Given the description of an element on the screen output the (x, y) to click on. 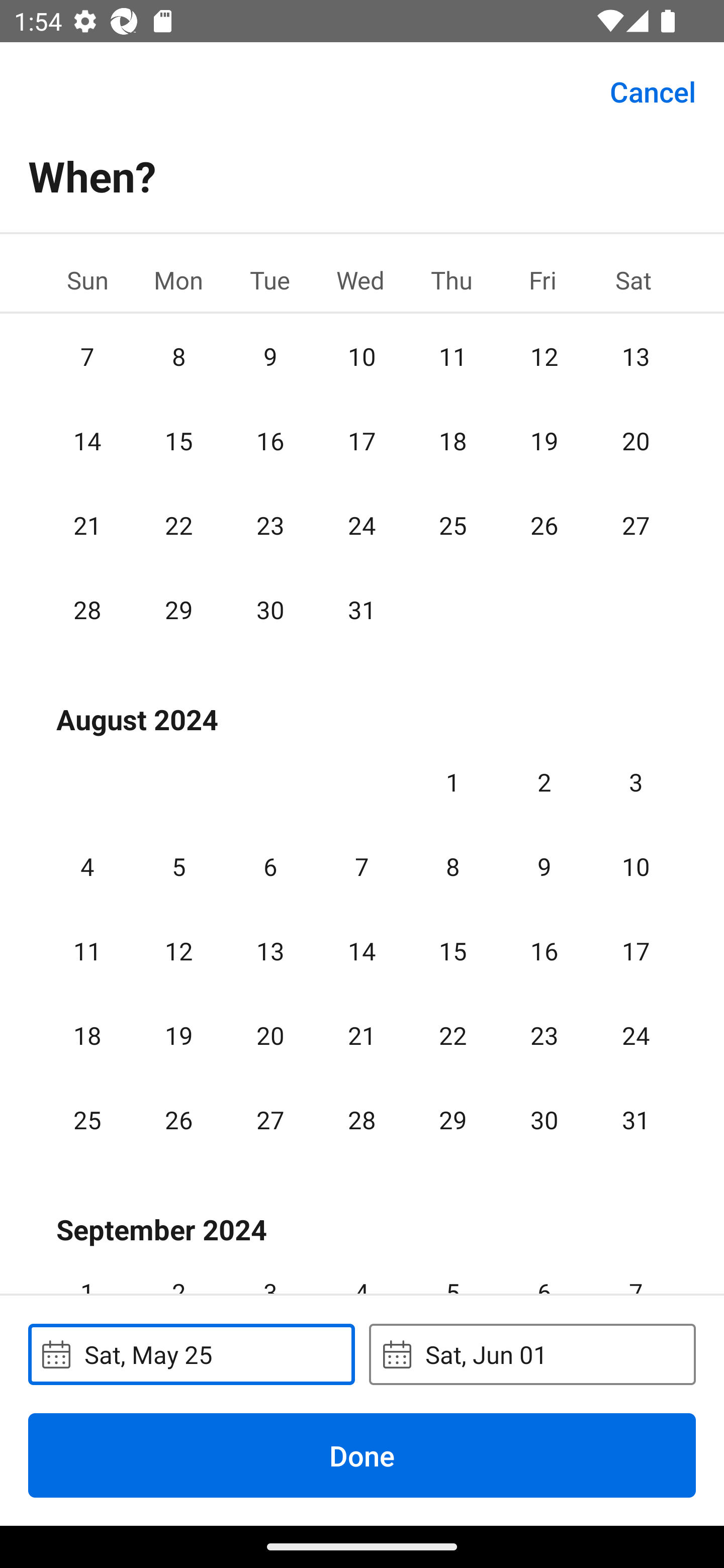
Cancel (652, 90)
Sat, May 25 (191, 1353)
Sat, Jun 01 (532, 1353)
Done (361, 1454)
